Given the description of an element on the screen output the (x, y) to click on. 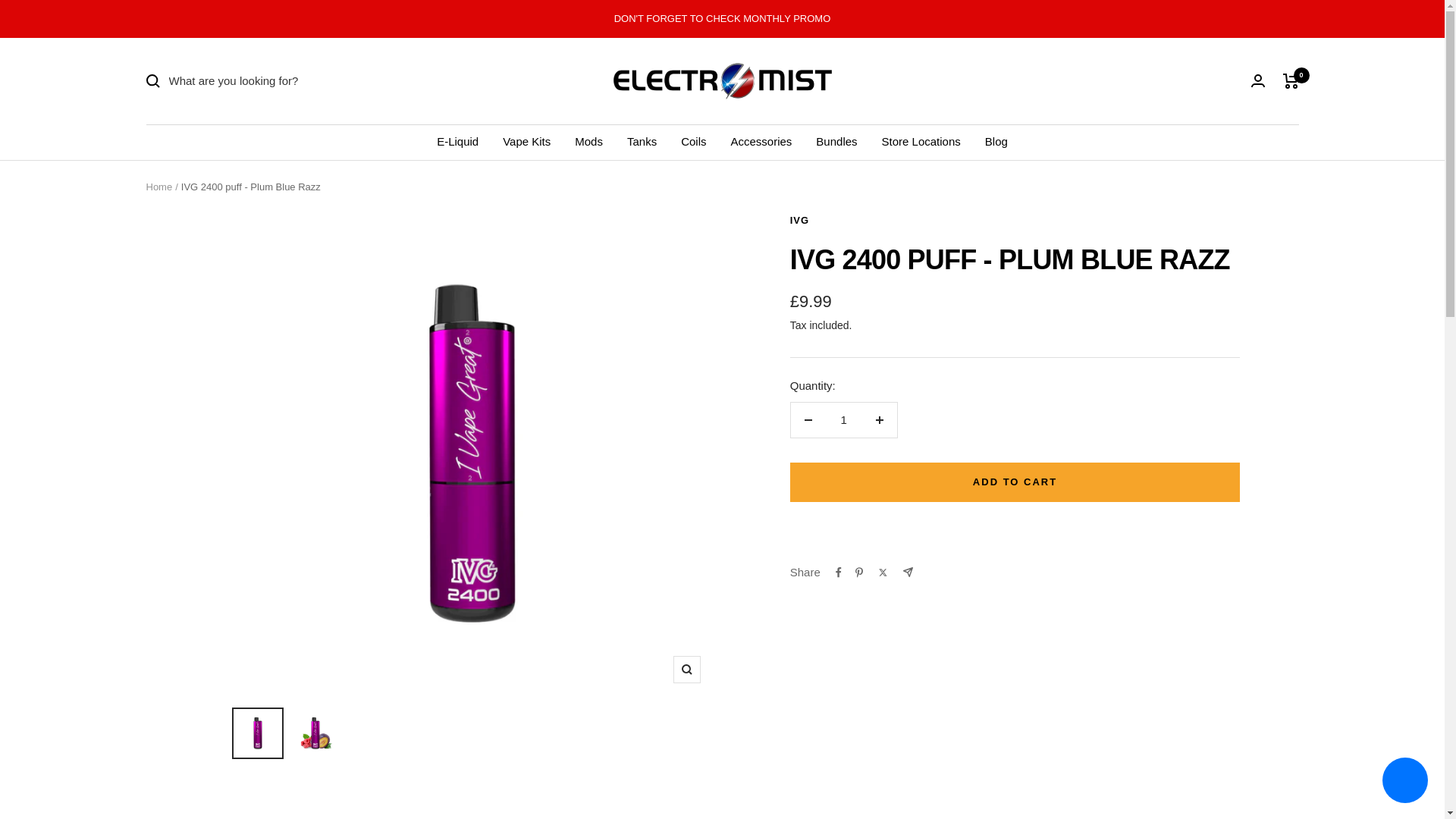
1 (843, 419)
Home (158, 186)
Shopify online store chat (1404, 781)
Tanks (641, 141)
E-Liquid (457, 141)
Blog (996, 141)
Vape Kits (526, 141)
0 (1290, 80)
Mods (588, 141)
IVG (799, 220)
